Given the description of an element on the screen output the (x, y) to click on. 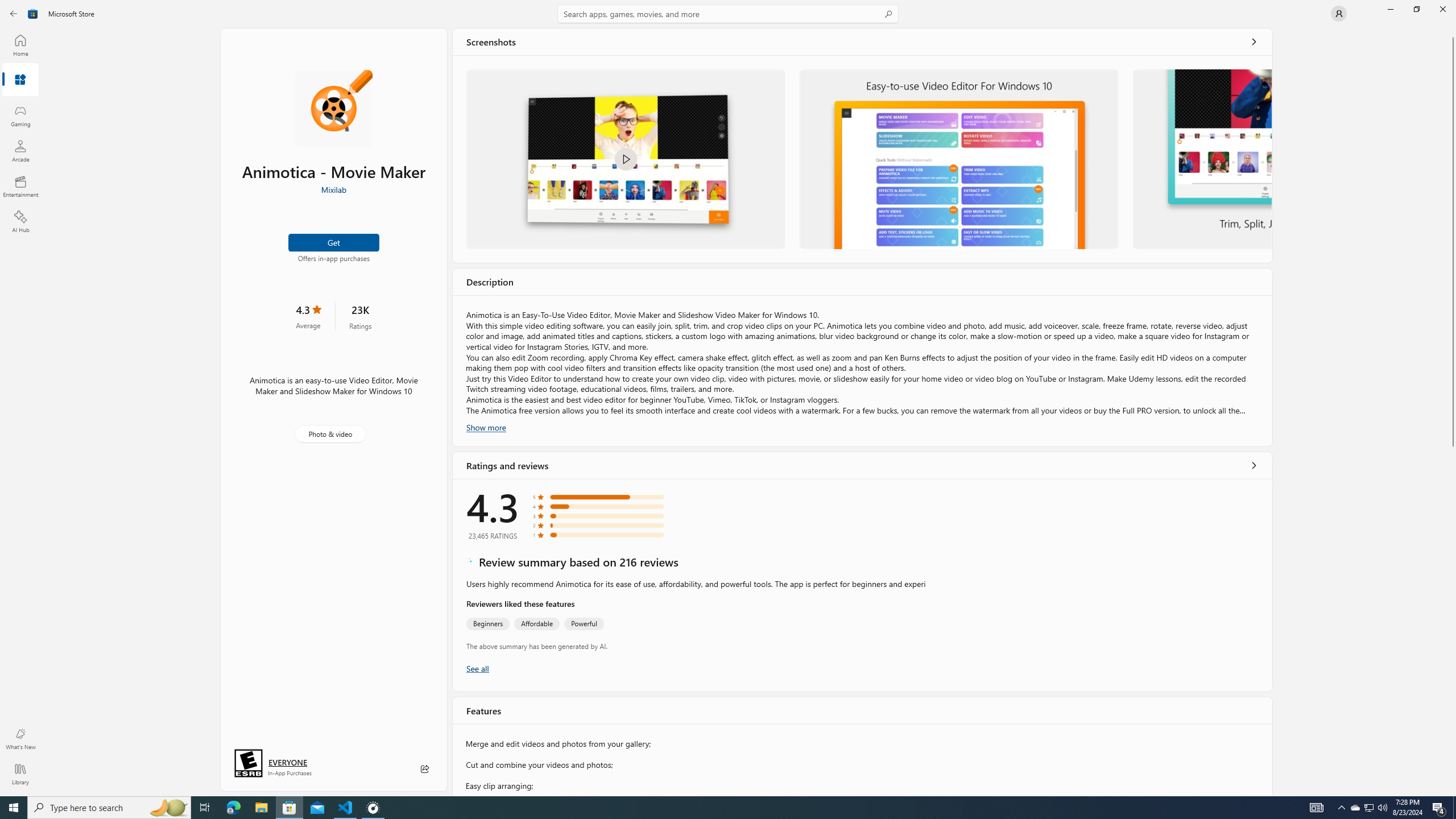
Back (13, 13)
Welcome to Animotica (624, 158)
See all (1253, 41)
Show all ratings and reviews (1253, 465)
Gaming (20, 115)
Search (727, 13)
Arcade (20, 150)
Mixilab (333, 189)
Home (20, 45)
Show more (485, 426)
Photo & video (329, 434)
Restore Microsoft Store (1416, 9)
Animotica is an easy-to-use video editor for Windows 10 (958, 158)
4.3 stars. Click to skip to ratings and reviews (307, 315)
